Given the description of an element on the screen output the (x, y) to click on. 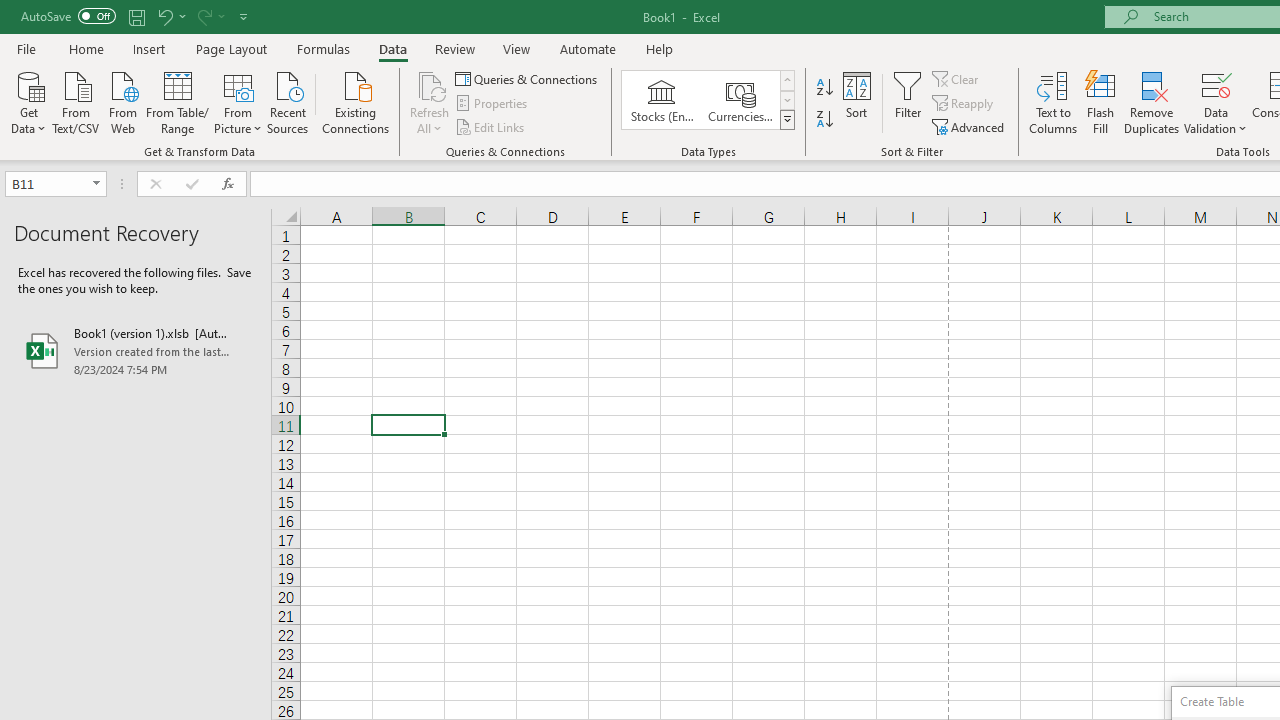
Properties (492, 103)
Refresh All (429, 102)
Class: NetUIImage (787, 119)
Data Types (786, 120)
Queries & Connections (527, 78)
